Given the description of an element on the screen output the (x, y) to click on. 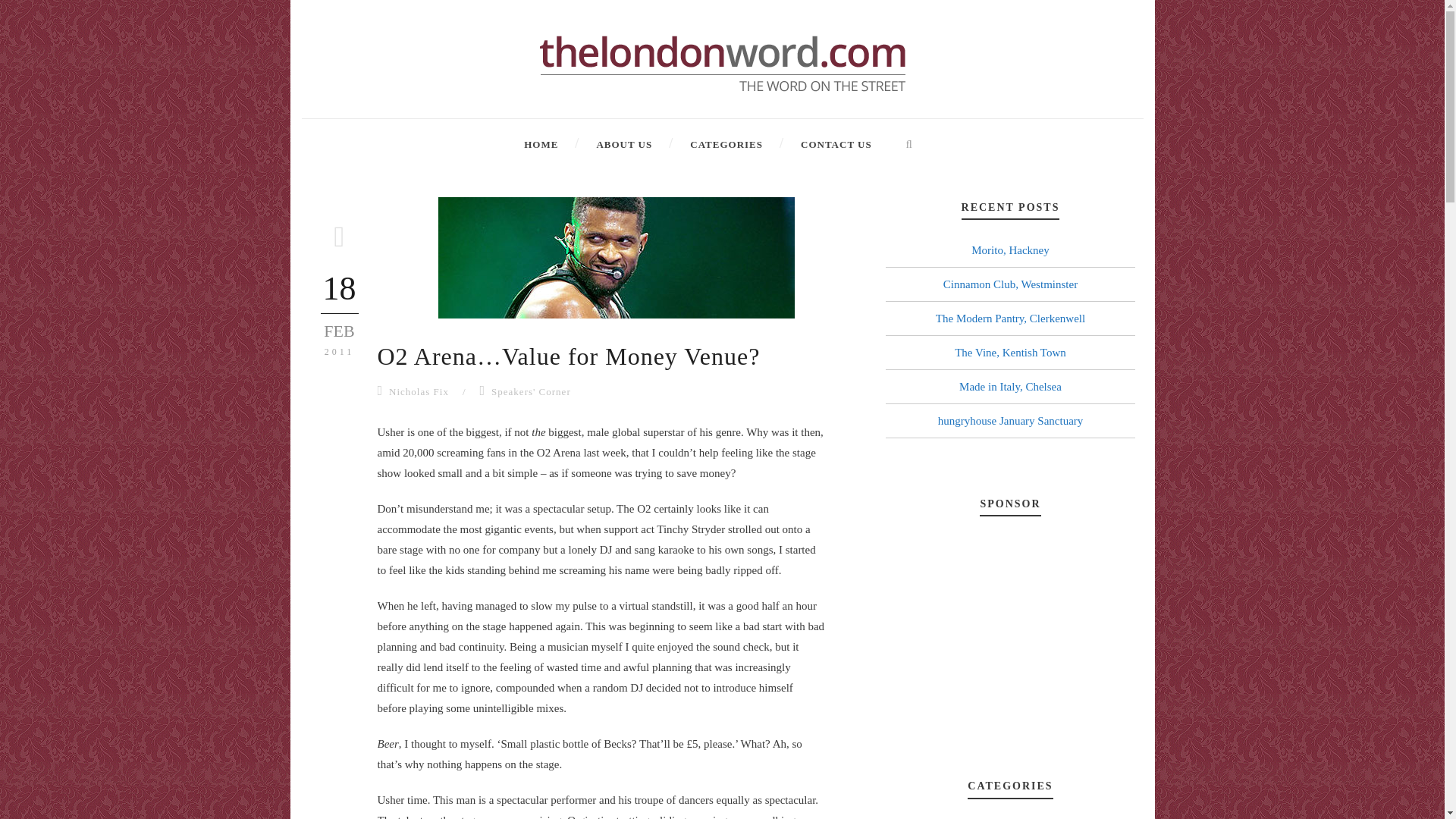
CONTACT US (817, 144)
Posts by Nicholas Fix (418, 391)
Advertisement (1010, 633)
Nicholas Fix (418, 391)
Speakers' Corner (531, 391)
CATEGORIES (707, 144)
ABOUT US (604, 144)
